Given the description of an element on the screen output the (x, y) to click on. 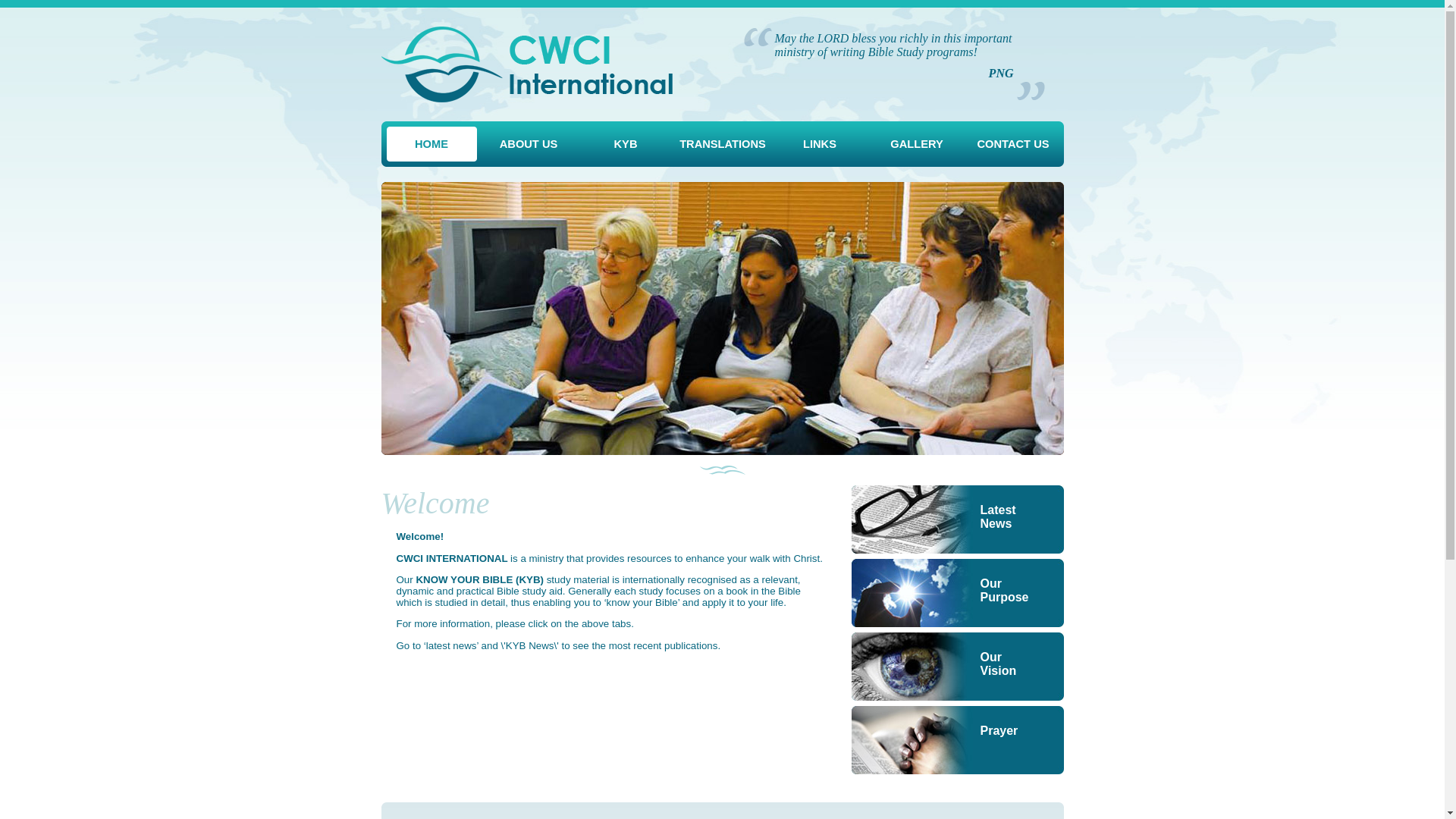
TRANSLATIONS Element type: text (722, 143)
CONTACT US Element type: text (1012, 143)
GALLERY Element type: text (917, 143)
HOME Element type: text (431, 143)
Our
Vision Element type: text (956, 666)
LINKS Element type: text (820, 143)
Prayer Element type: text (956, 740)
KYB Element type: text (625, 143)
Latest
News Element type: text (956, 519)
ABOUT US Element type: text (528, 143)
Our
Purpose Element type: text (956, 592)
